Given the description of an element on the screen output the (x, y) to click on. 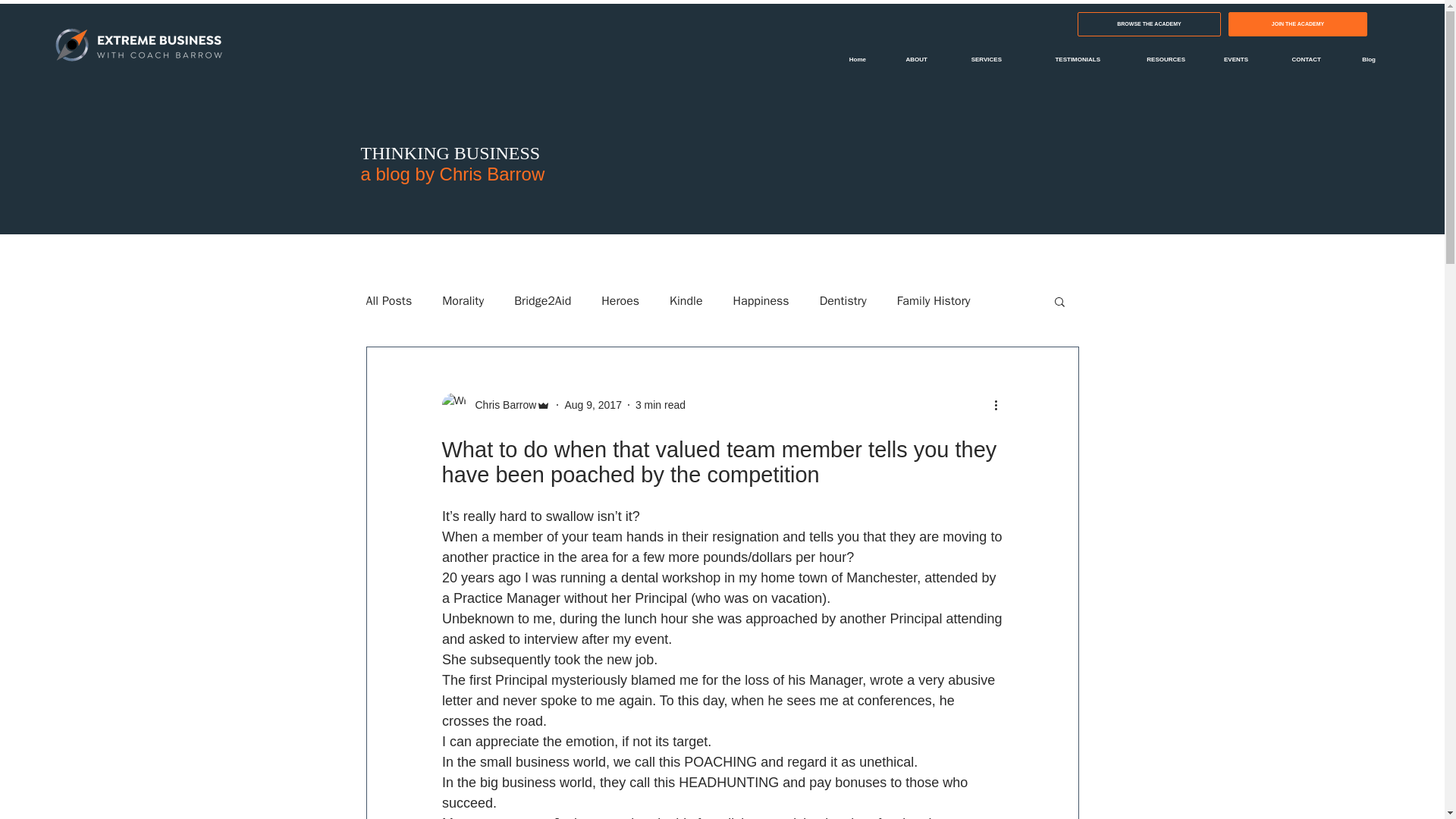
Morality (462, 300)
All Posts (388, 300)
Heroes (620, 300)
Bridge2Aid (541, 300)
ABOUT (908, 59)
CONTACT (1295, 59)
Blog (1359, 59)
Chris Barrow (500, 405)
3 min read (659, 404)
TESTIMONIALS (1062, 59)
